Given the description of an element on the screen output the (x, y) to click on. 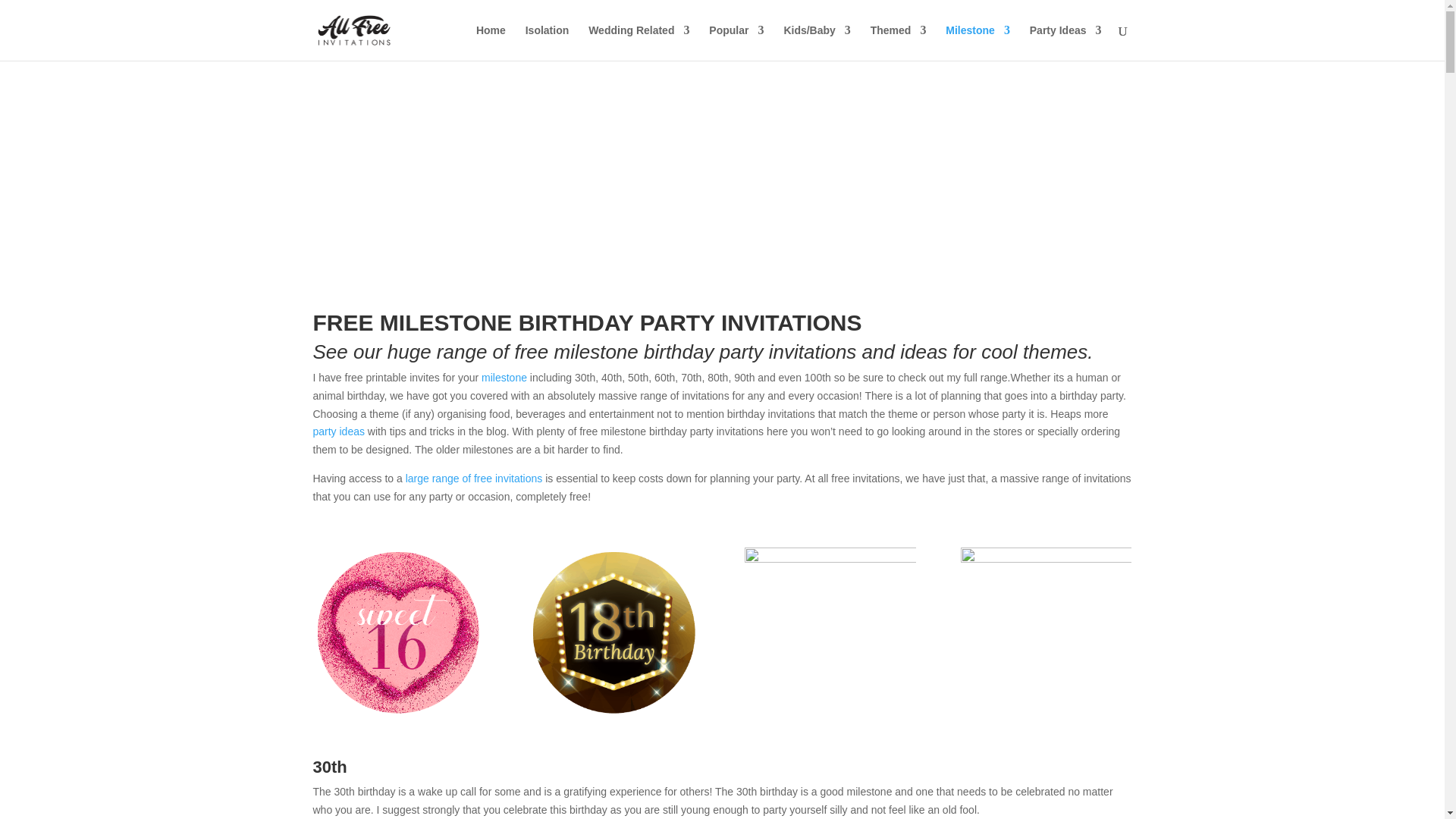
Popular (735, 42)
Themed (898, 42)
Wedding Related (638, 42)
Isolation (547, 42)
